Given the description of an element on the screen output the (x, y) to click on. 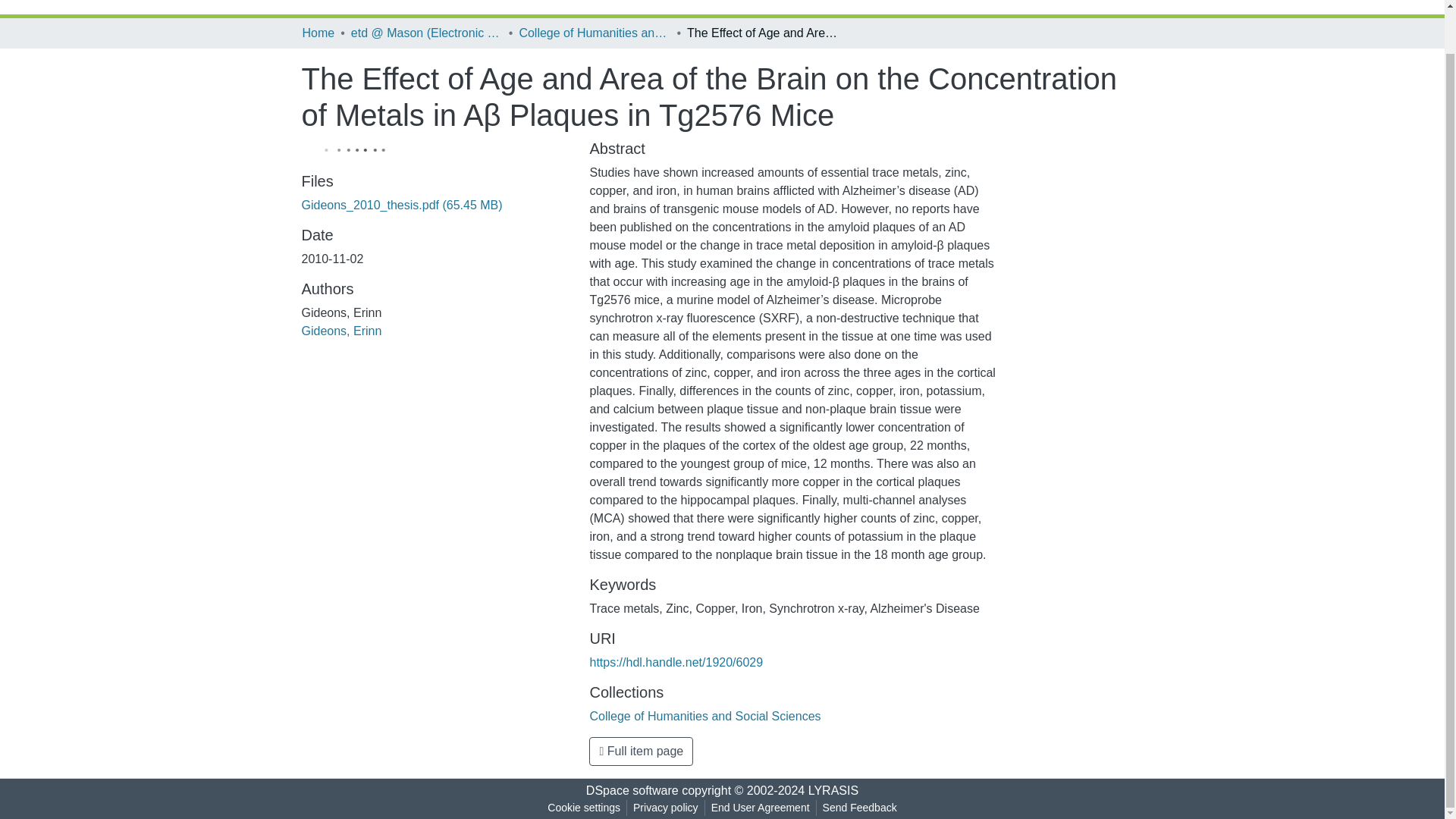
Full item page (641, 751)
Privacy policy (665, 807)
College of Humanities and Social Sciences (705, 716)
Send Feedback (859, 807)
End User Agreement (759, 807)
Home (317, 33)
LYRASIS (833, 789)
DSpace software (632, 789)
Gideons, Erinn (341, 330)
Cookie settings (583, 807)
College of Humanities and Social Sciences (593, 33)
